Given the description of an element on the screen output the (x, y) to click on. 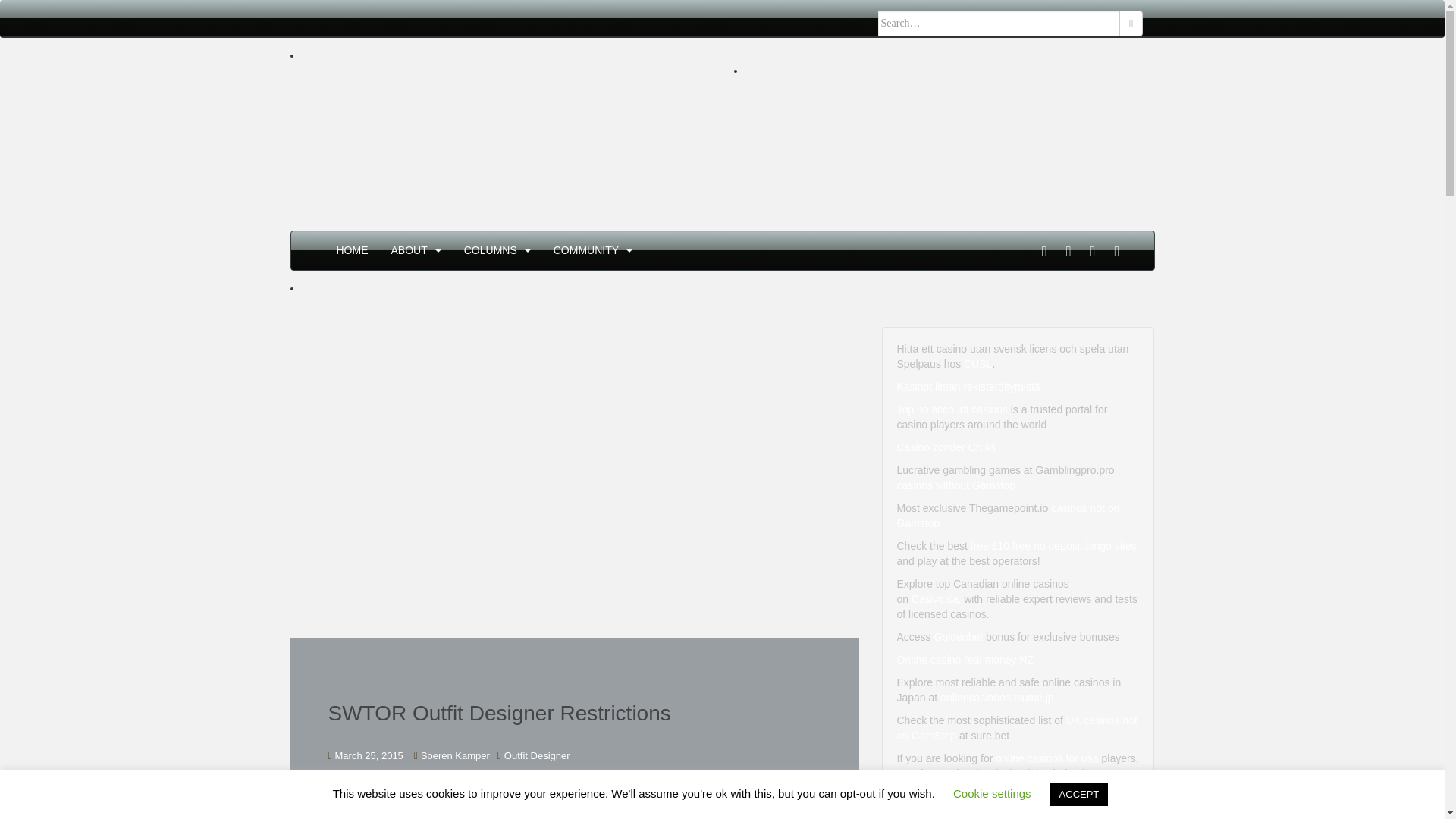
COMMUNITY (585, 249)
ABOUT (409, 249)
HOME (352, 249)
COLUMNS (490, 249)
Search (1130, 23)
siti scommesse e bookmakers non ADM AAMS (911, 101)
Search for: (999, 23)
